Given the description of an element on the screen output the (x, y) to click on. 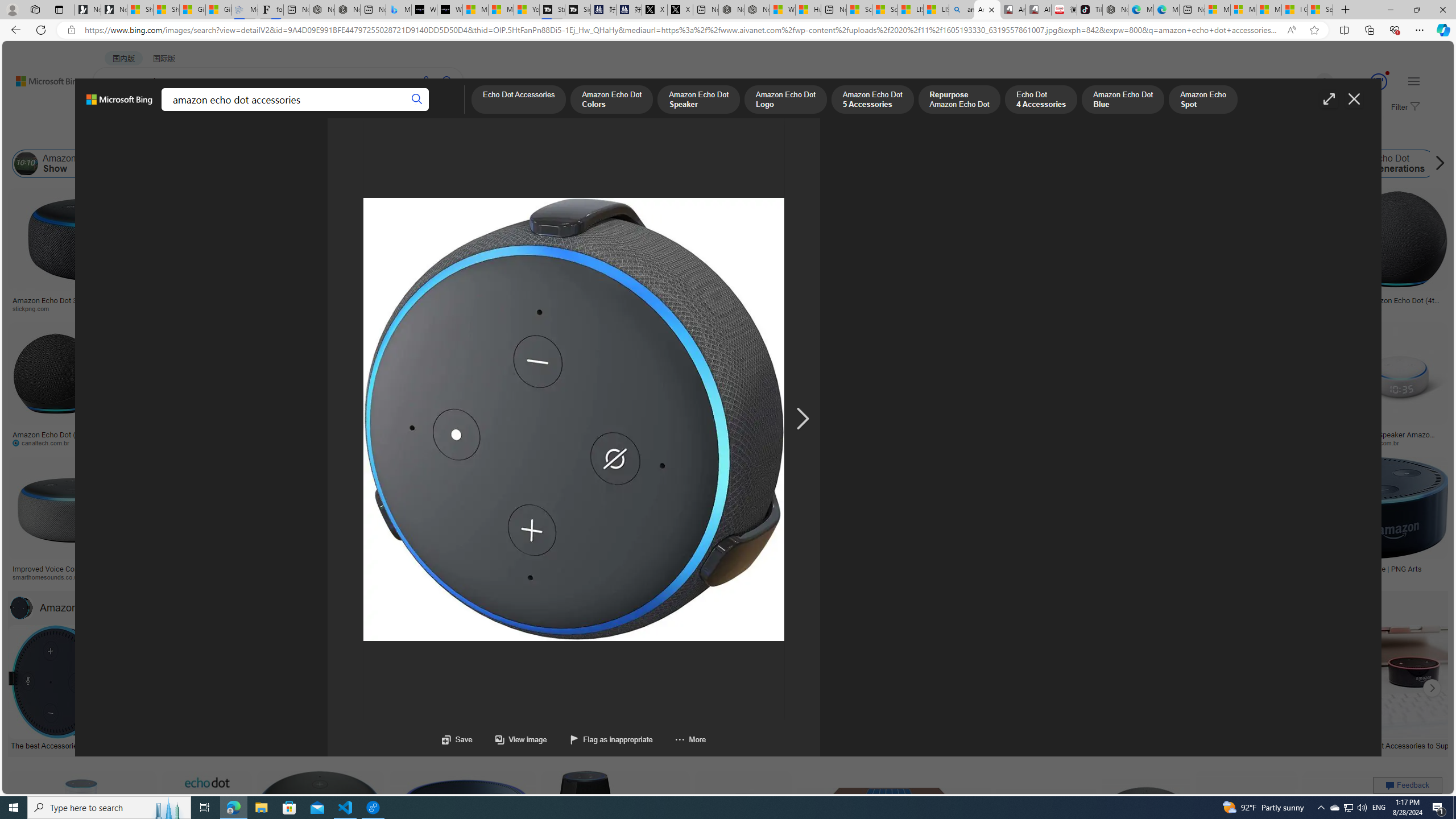
avenidatecnologica.com (1243, 442)
IMAGES (156, 112)
pngkey.com (807, 442)
Android Central (413, 576)
amazon.com.mx (1003, 442)
